Given the description of an element on the screen output the (x, y) to click on. 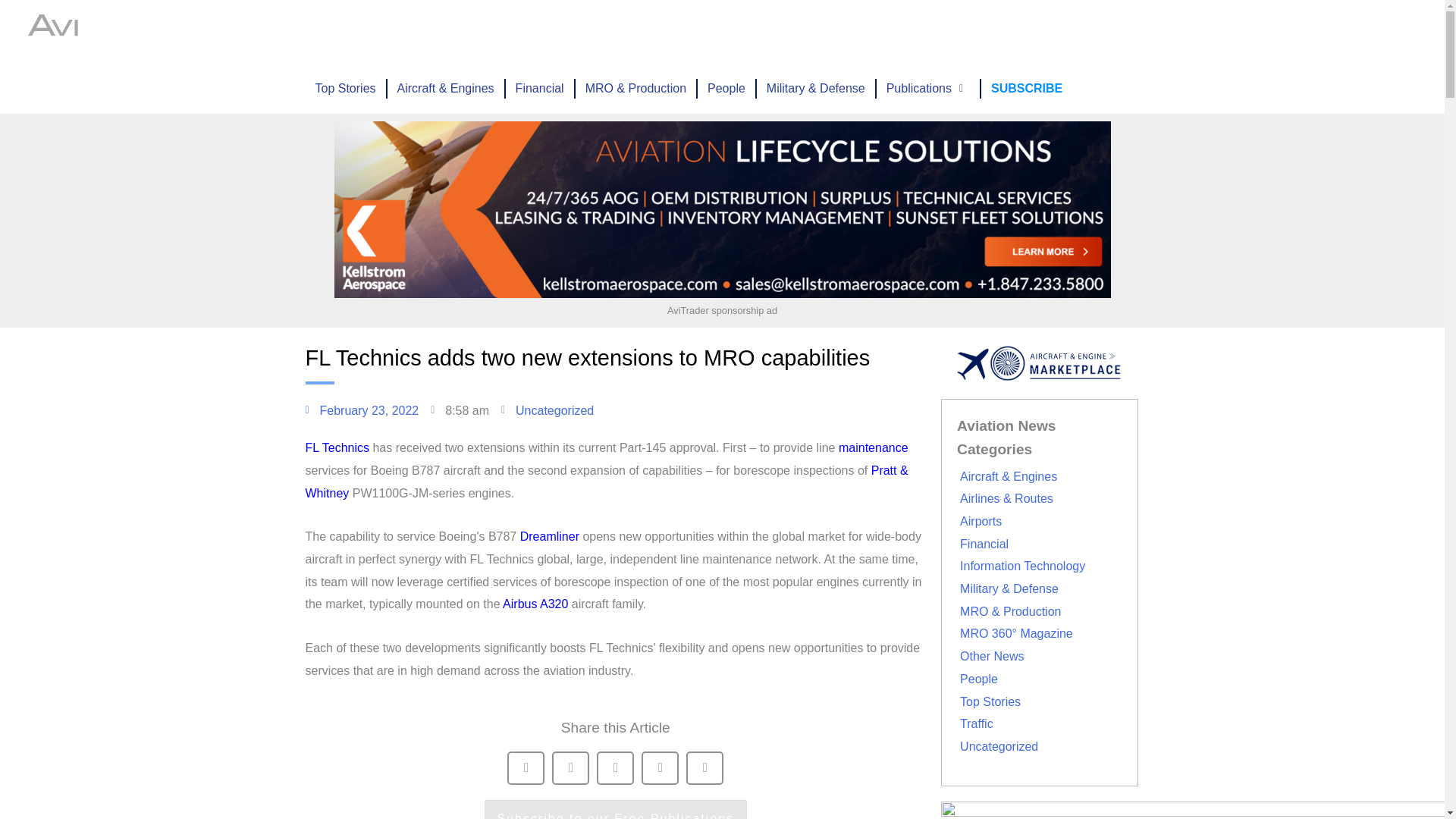
Posts tagged with FL Technics (336, 447)
Posts tagged with maintenance (873, 447)
Advertising (681, 31)
Posts tagged with Airbus A320 (534, 603)
Upcoming Events (583, 31)
About AviTrader (863, 31)
Our Team (949, 31)
Posts tagged with Dreamliner (549, 535)
Contact Us (1021, 31)
